Given the description of an element on the screen output the (x, y) to click on. 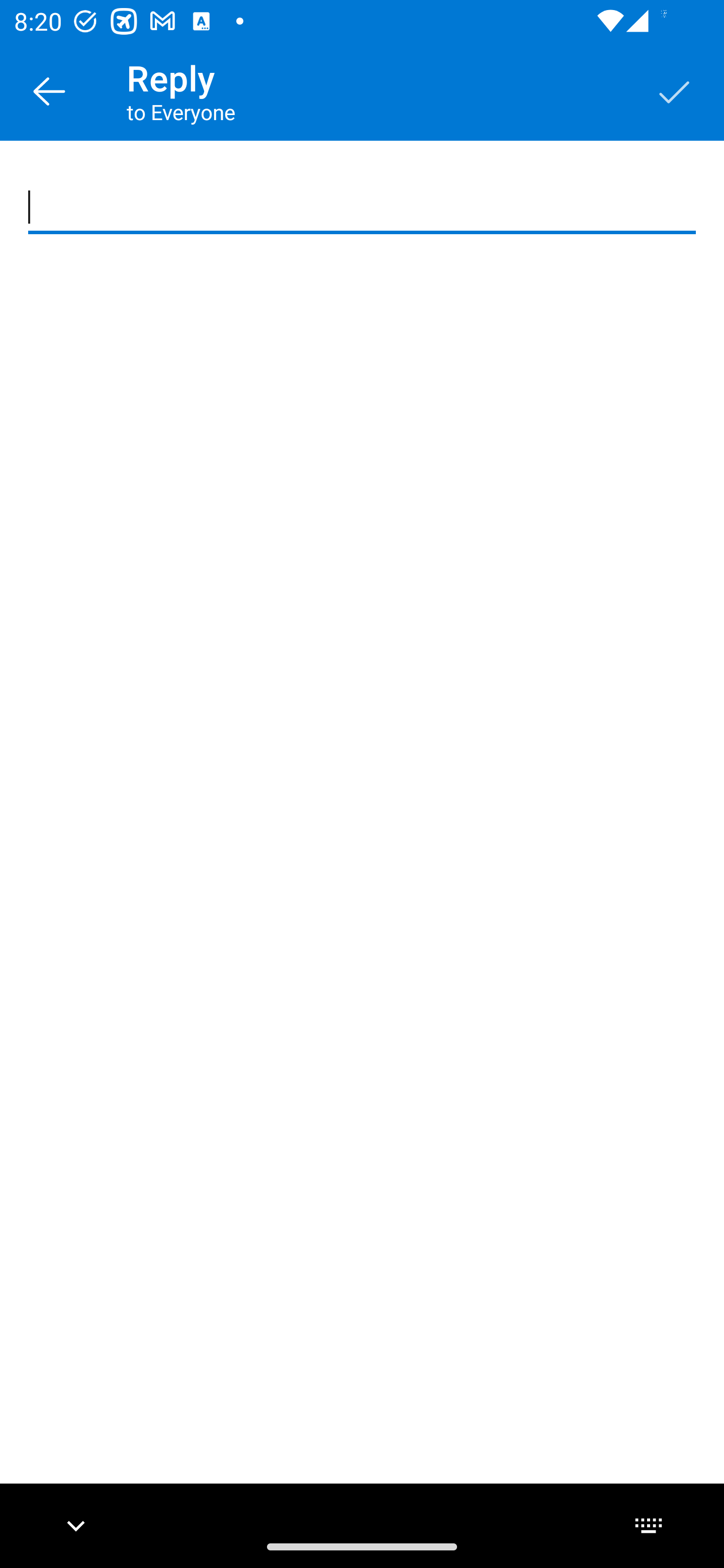
Back (49, 90)
Save (674, 90)
